Given the description of an element on the screen output the (x, y) to click on. 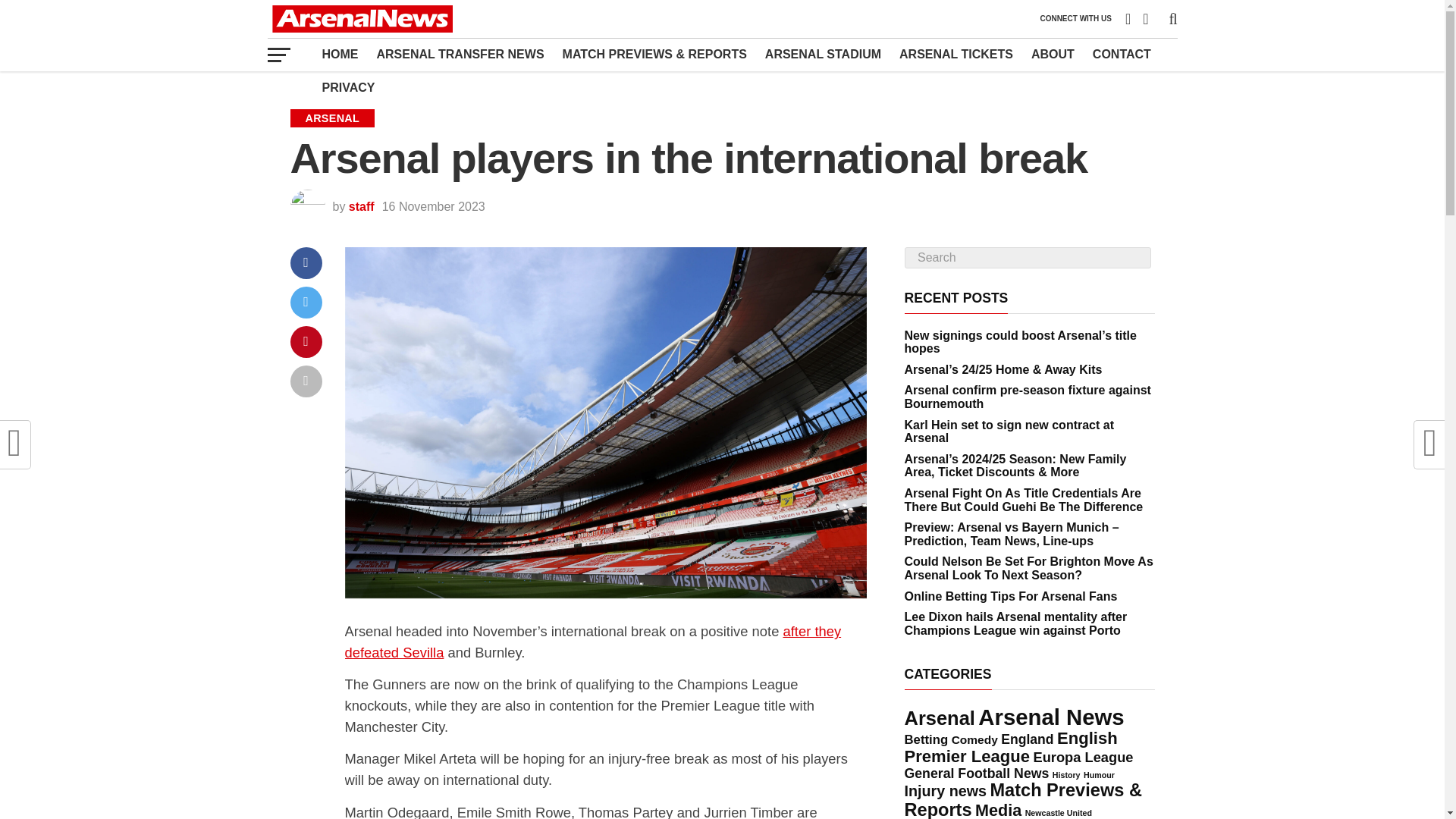
PRIVACY (348, 87)
HOME (339, 54)
Arsenal confirm pre-season fixture against Bournemouth (1027, 397)
Search (1027, 257)
after they defeated Sevilla (592, 641)
ARSENAL STADIUM (822, 54)
ARSENAL TICKETS (955, 54)
Posts by staff (361, 205)
staff (361, 205)
ARSENAL TRANSFER NEWS (459, 54)
CONTACT (1121, 54)
Karl Hein set to sign new contract at Arsenal (1008, 431)
ABOUT (1052, 54)
